Given the description of an element on the screen output the (x, y) to click on. 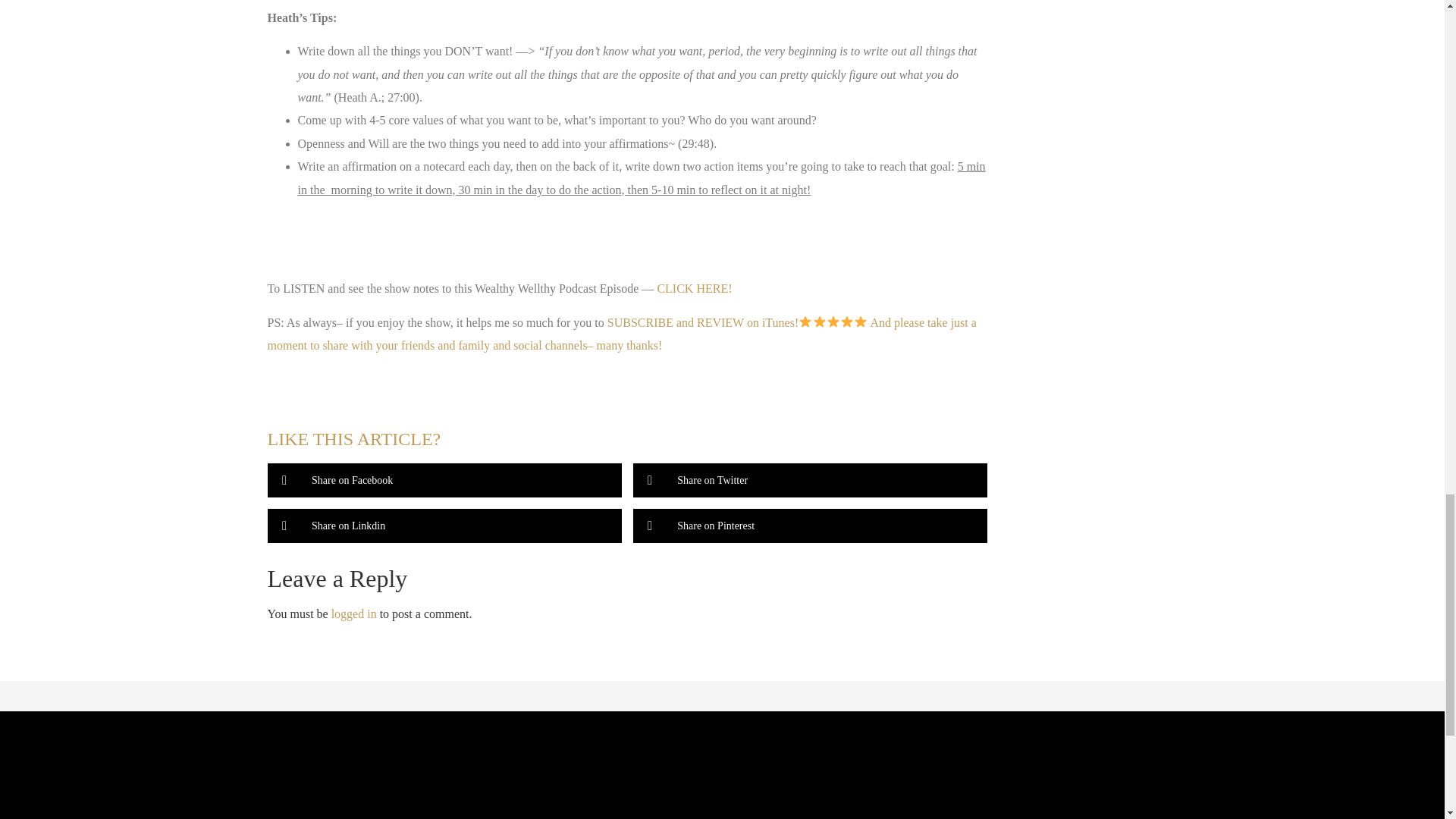
logged in (354, 613)
CLICK HERE! (692, 287)
